Given the description of an element on the screen output the (x, y) to click on. 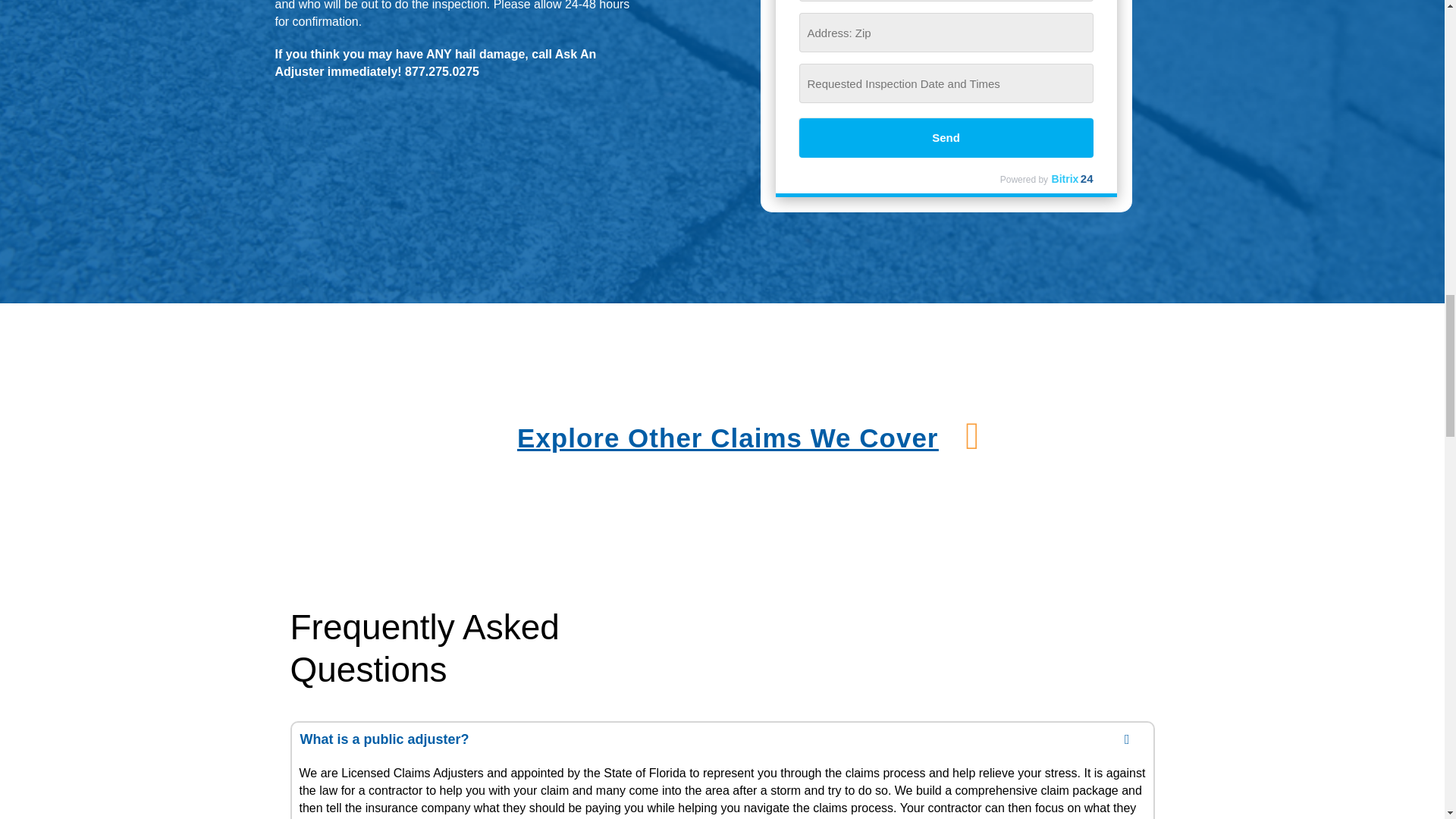
Send (946, 137)
Explore Other Claims We Cover (726, 438)
What is a public adjuster? (722, 739)
